Given the description of an element on the screen output the (x, y) to click on. 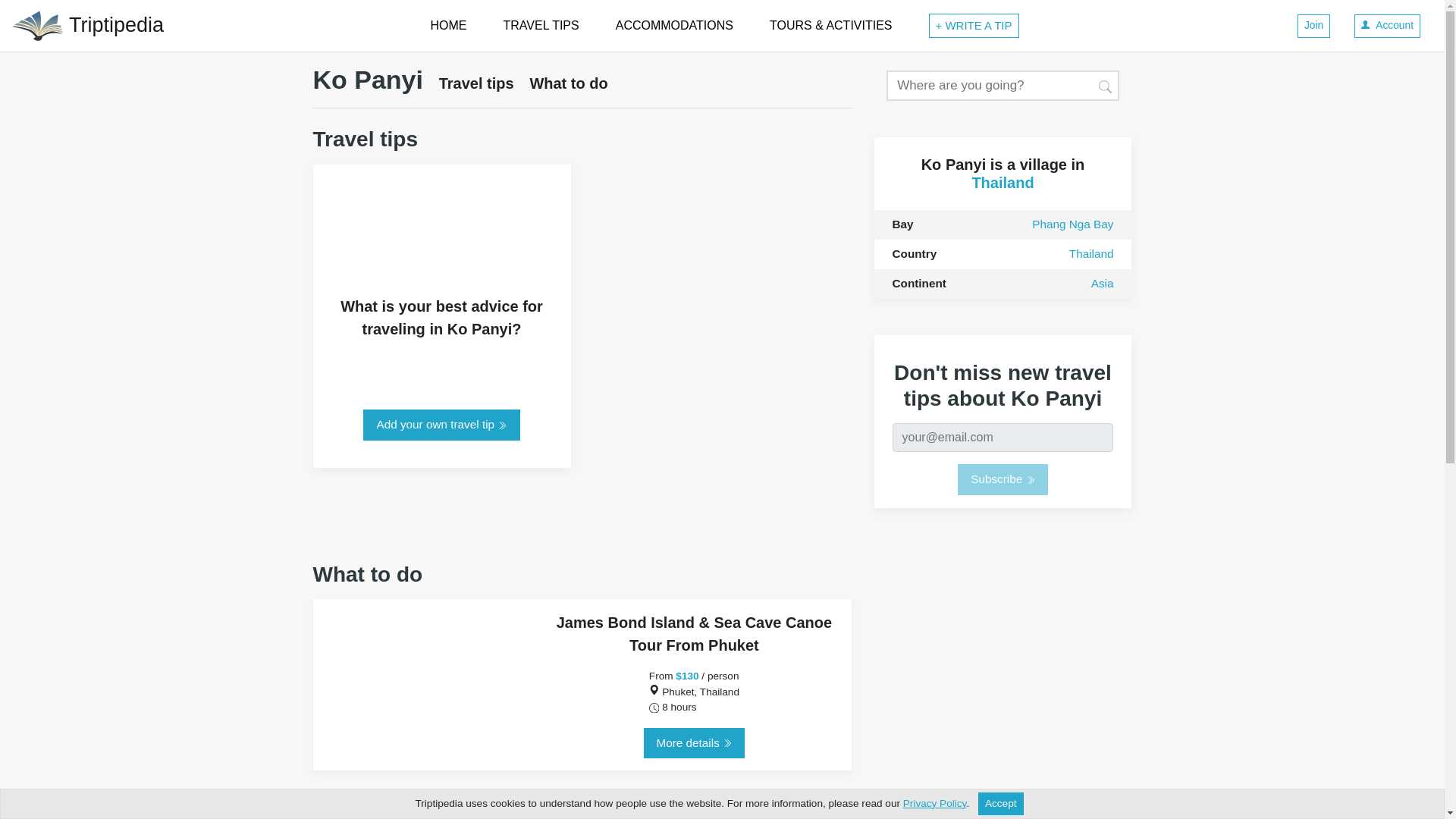
ACCOMMODATIONS (674, 25)
Travel tips (476, 83)
Thailand (1002, 182)
Asia (1101, 282)
Account (1387, 25)
Login (1387, 25)
Add your own travel tip (440, 424)
More details  (693, 743)
HOME (448, 25)
TRAVEL TIPS (541, 25)
